Given the description of an element on the screen output the (x, y) to click on. 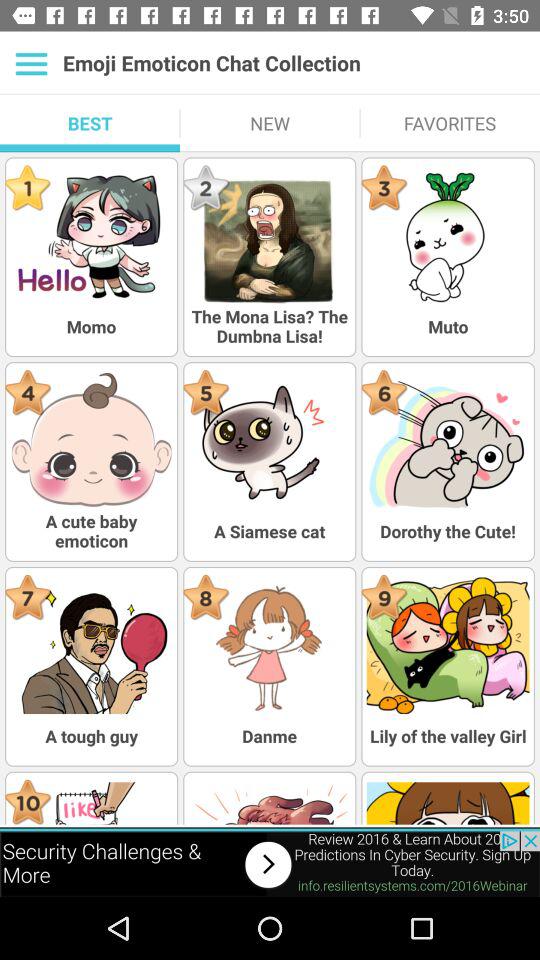
open advertisement (270, 864)
